Given the description of an element on the screen output the (x, y) to click on. 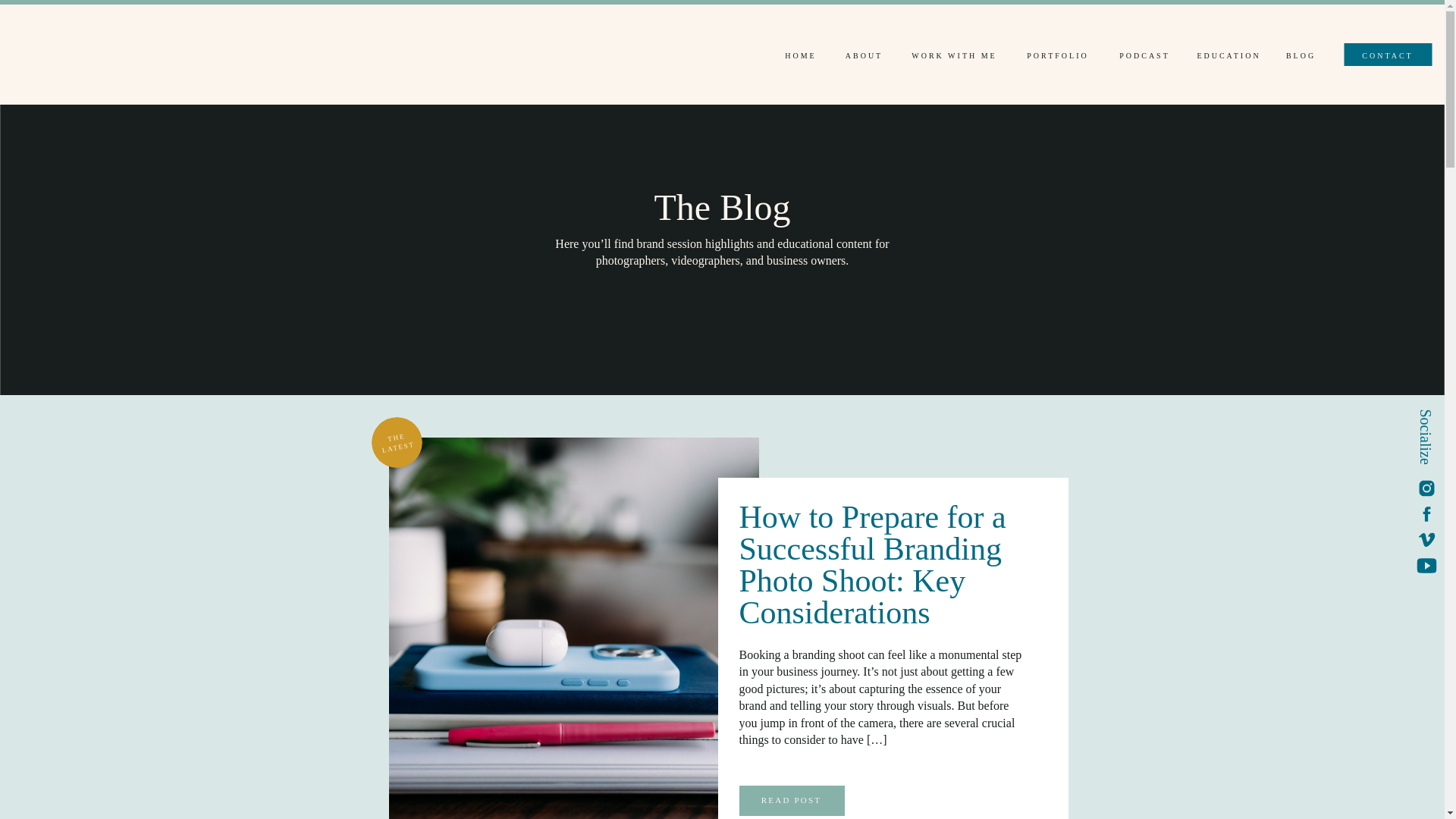
CONTACT (1387, 54)
PODCAST (1143, 58)
ABOUT (863, 58)
EDUCATION (1228, 58)
BLOG (1300, 58)
READ POST (790, 804)
HOME (800, 58)
PORTFOLIO (1058, 58)
